Given the description of an element on the screen output the (x, y) to click on. 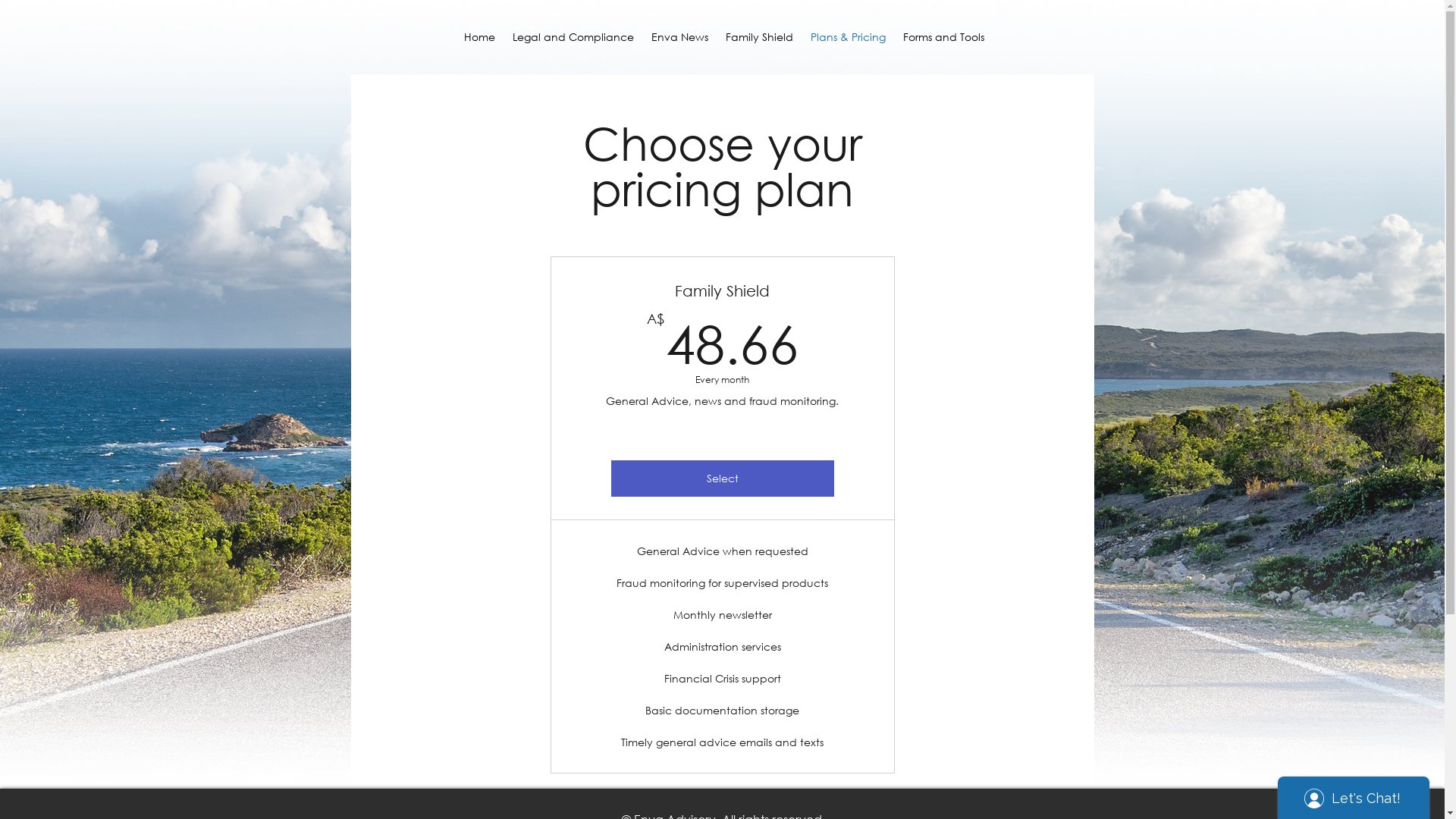
Plans & Pricing Element type: text (848, 37)
Family Shield Element type: text (759, 37)
Home Element type: text (479, 37)
Enva News Element type: text (680, 37)
Forms and Tools Element type: text (943, 37)
Select Element type: text (722, 478)
